Given the description of an element on the screen output the (x, y) to click on. 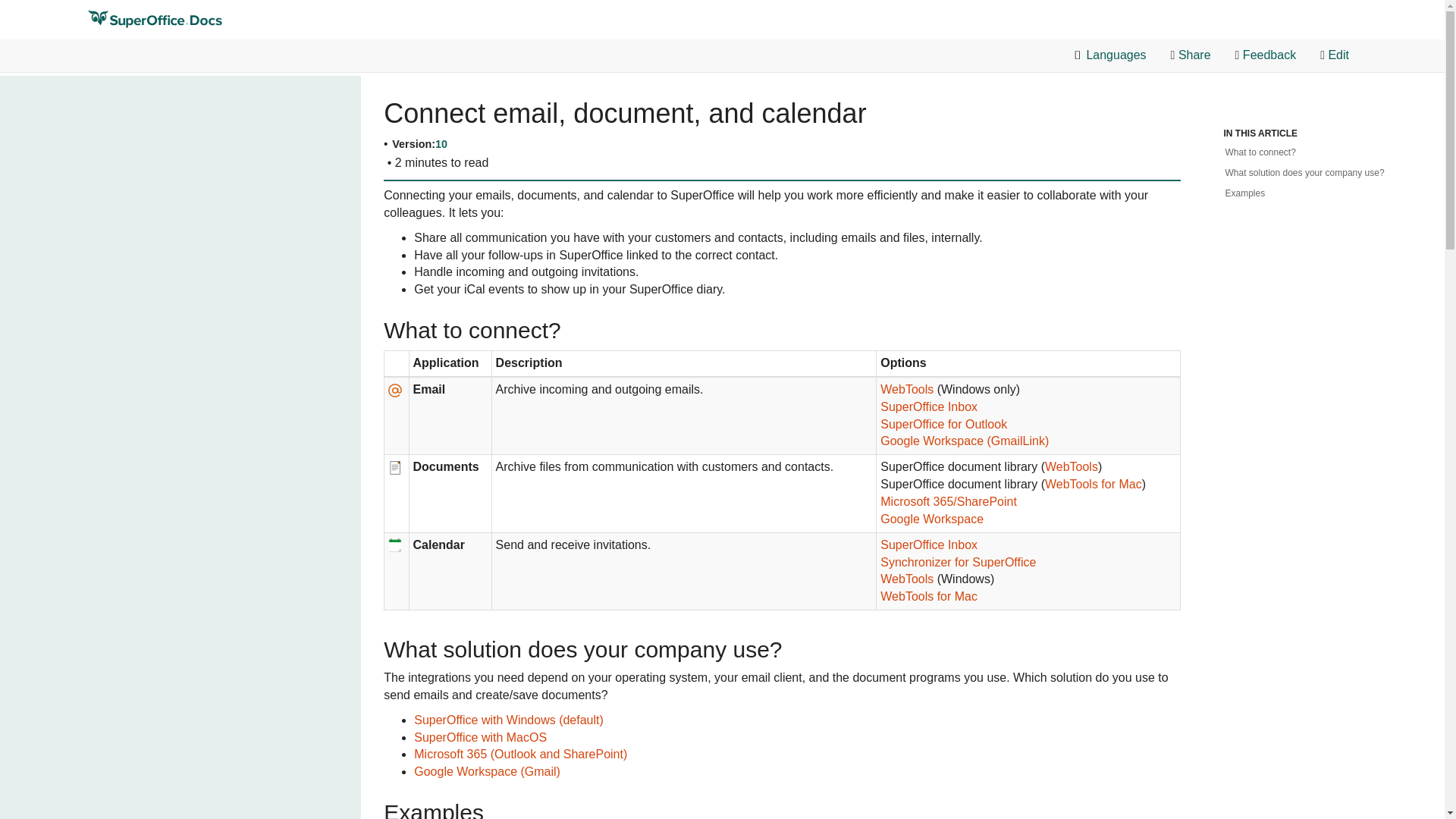
WebTools (906, 389)
SuperOffice for Outlook (943, 425)
WebTools for Mac (1093, 484)
Google Workspace (932, 519)
Synchronizer for SuperOffice (957, 562)
Languages (1110, 55)
Share (1190, 55)
SuperOffice Inbox (928, 407)
WebTools (906, 579)
Feedback (1265, 55)
Edit (1333, 55)
SuperOffice with MacOS (480, 737)
WebTools for Mac (928, 597)
WebTools (1071, 466)
SuperOffice Inbox (928, 545)
